Given the description of an element on the screen output the (x, y) to click on. 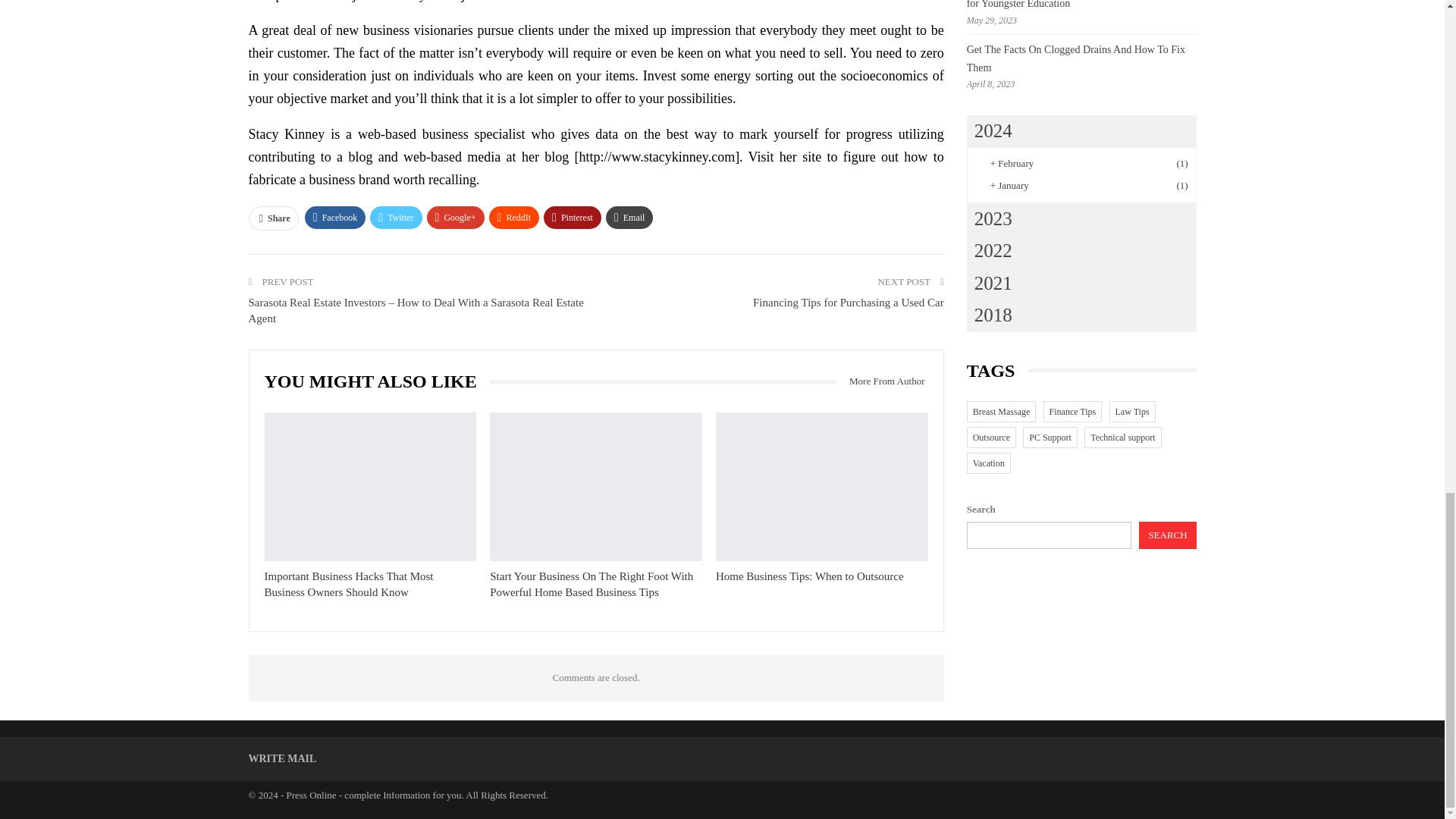
Facebook (335, 217)
Home Business Tips: When to Outsource (810, 576)
Home Business Tips: When to Outsource (822, 486)
